Given the description of an element on the screen output the (x, y) to click on. 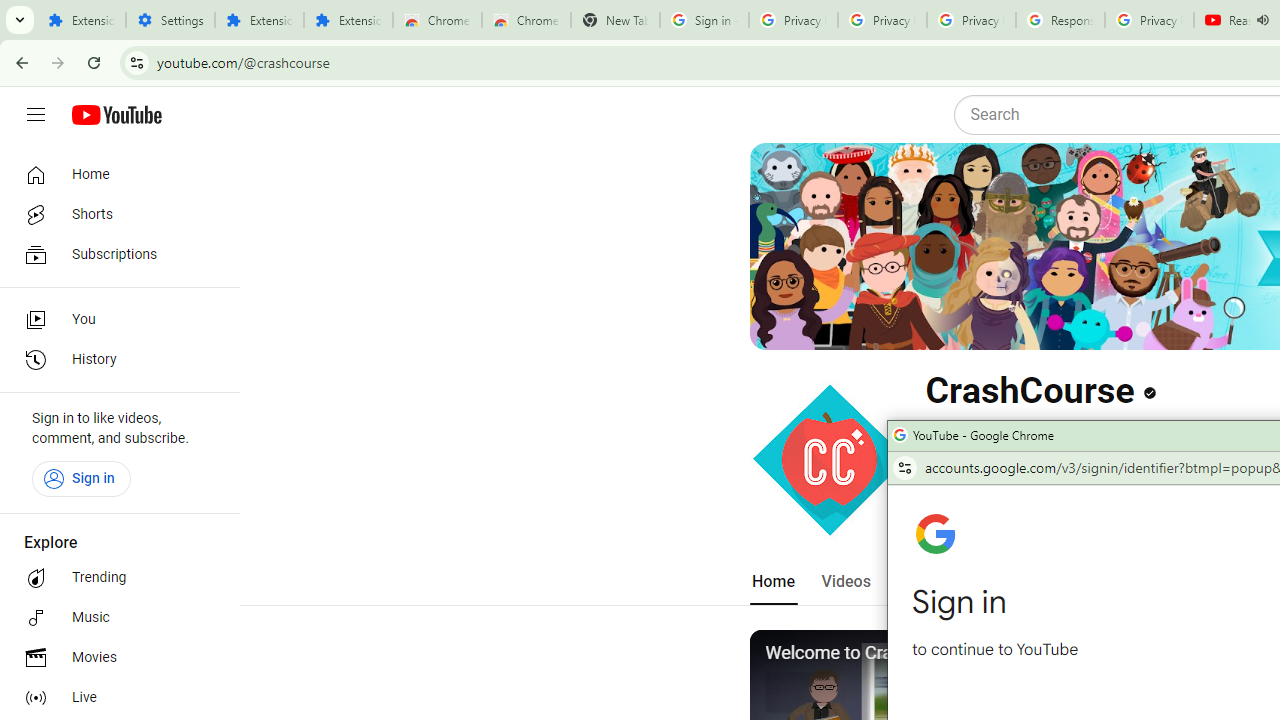
New Tab (615, 20)
Chrome Web Store - Themes (526, 20)
